Given the description of an element on the screen output the (x, y) to click on. 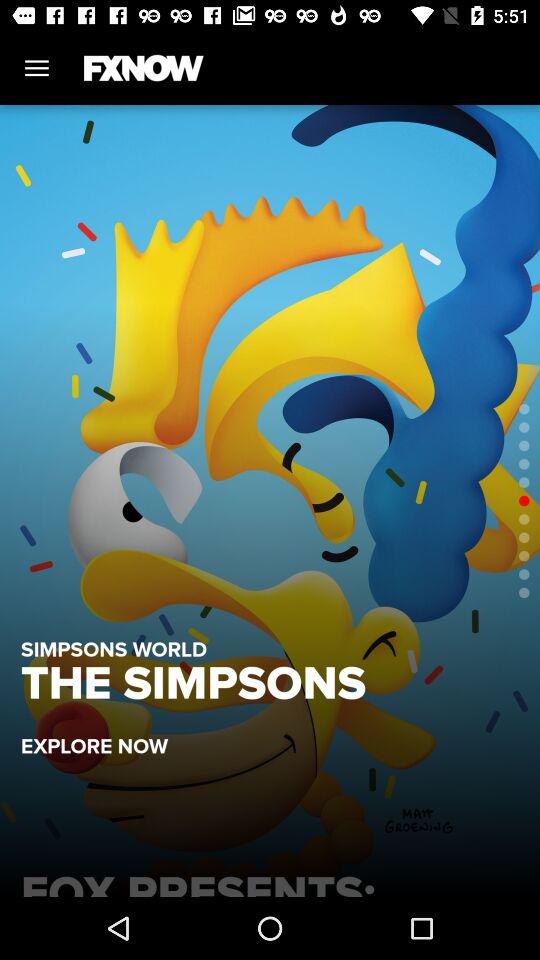
select the item below the the simpsons (104, 735)
